Given the description of an element on the screen output the (x, y) to click on. 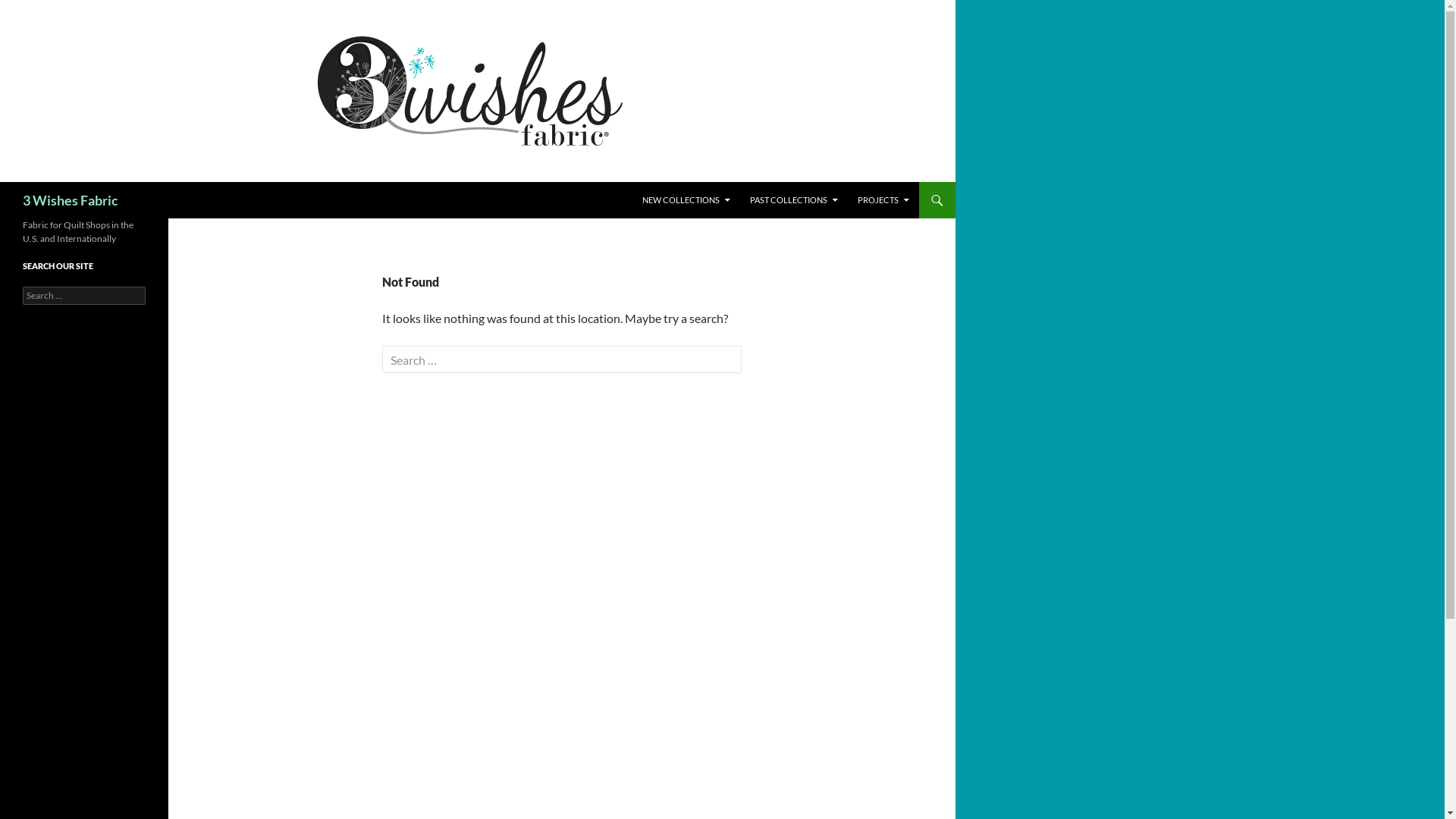
Search Element type: text (3, 182)
Search Element type: text (29, 9)
NEW COLLECTIONS Element type: text (686, 200)
SKIP TO CONTENT Element type: text (642, 182)
PROJECTS Element type: text (883, 200)
Search Element type: text (40, 13)
3 Wishes Fabric Element type: text (70, 200)
PAST COLLECTIONS Element type: text (793, 200)
